Given the description of an element on the screen output the (x, y) to click on. 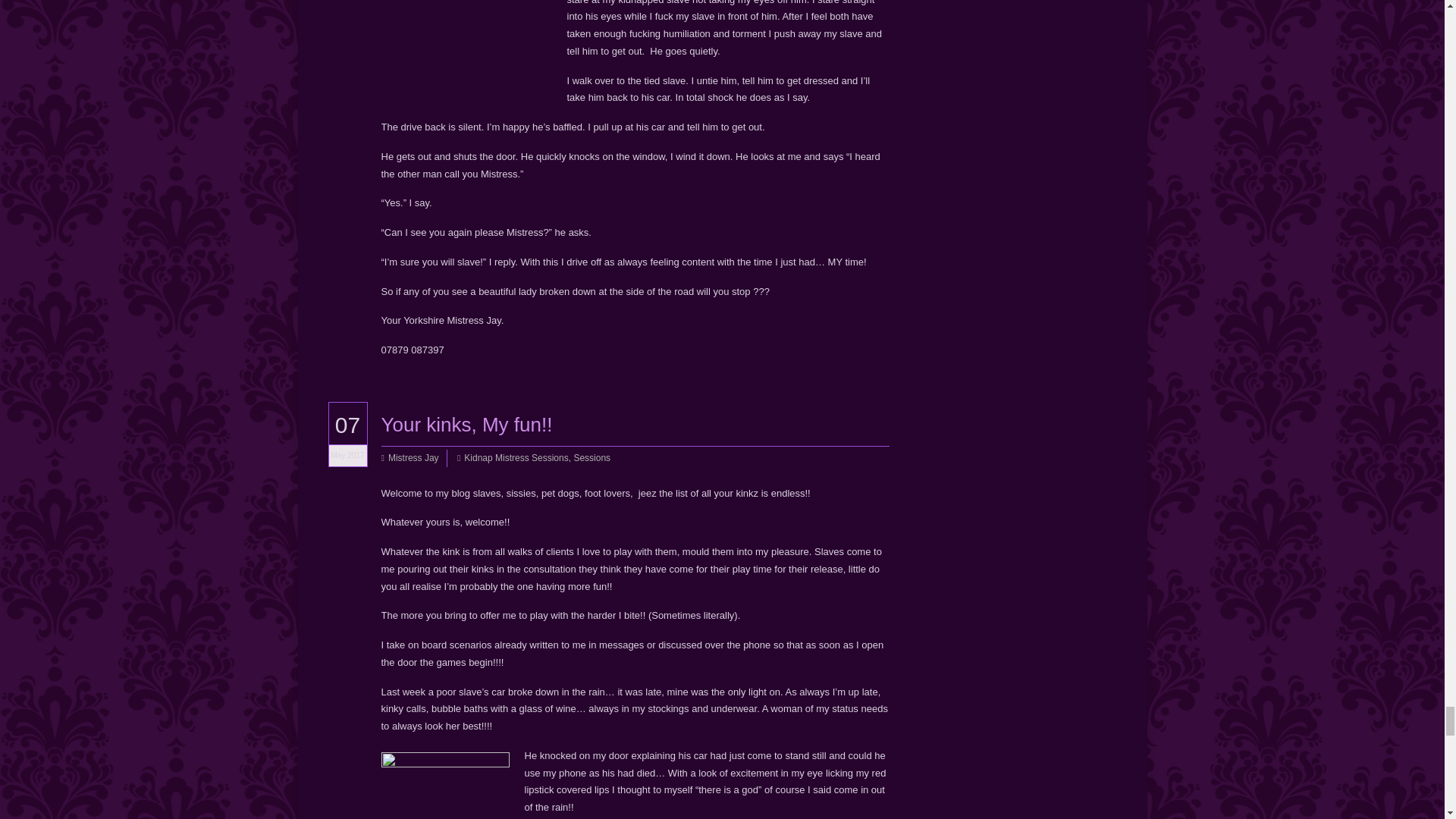
Posts by Mistress Jay (413, 457)
